Given the description of an element on the screen output the (x, y) to click on. 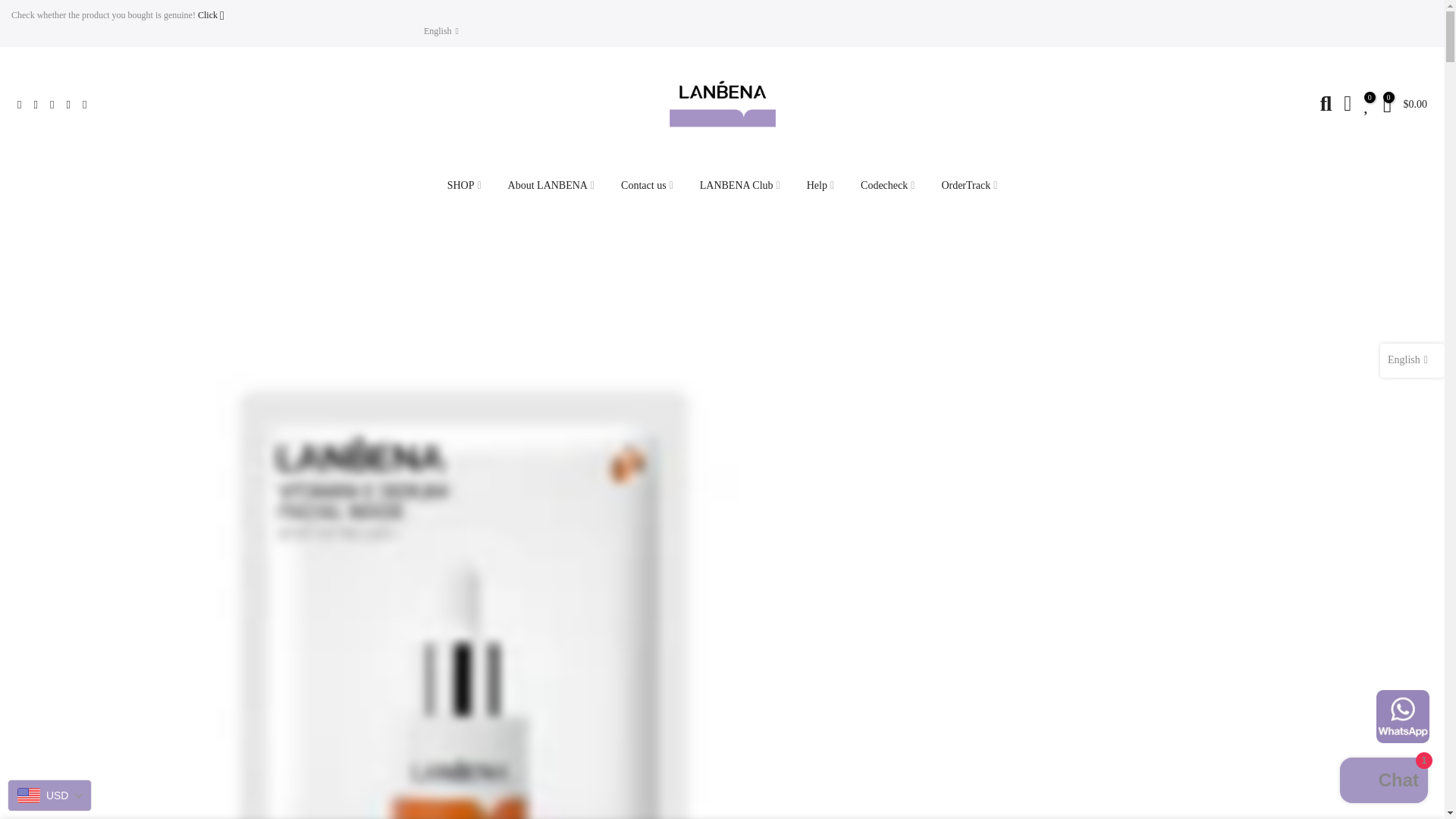
Help (820, 185)
Click (211, 14)
SHOP (464, 185)
Contact us (647, 185)
About LANBENA (551, 185)
Shopify online store chat (1383, 781)
OrderTrack (969, 185)
0 (1387, 104)
Codecheck (887, 185)
LANBENA Club (739, 185)
0 (1365, 105)
